Given the description of an element on the screen output the (x, y) to click on. 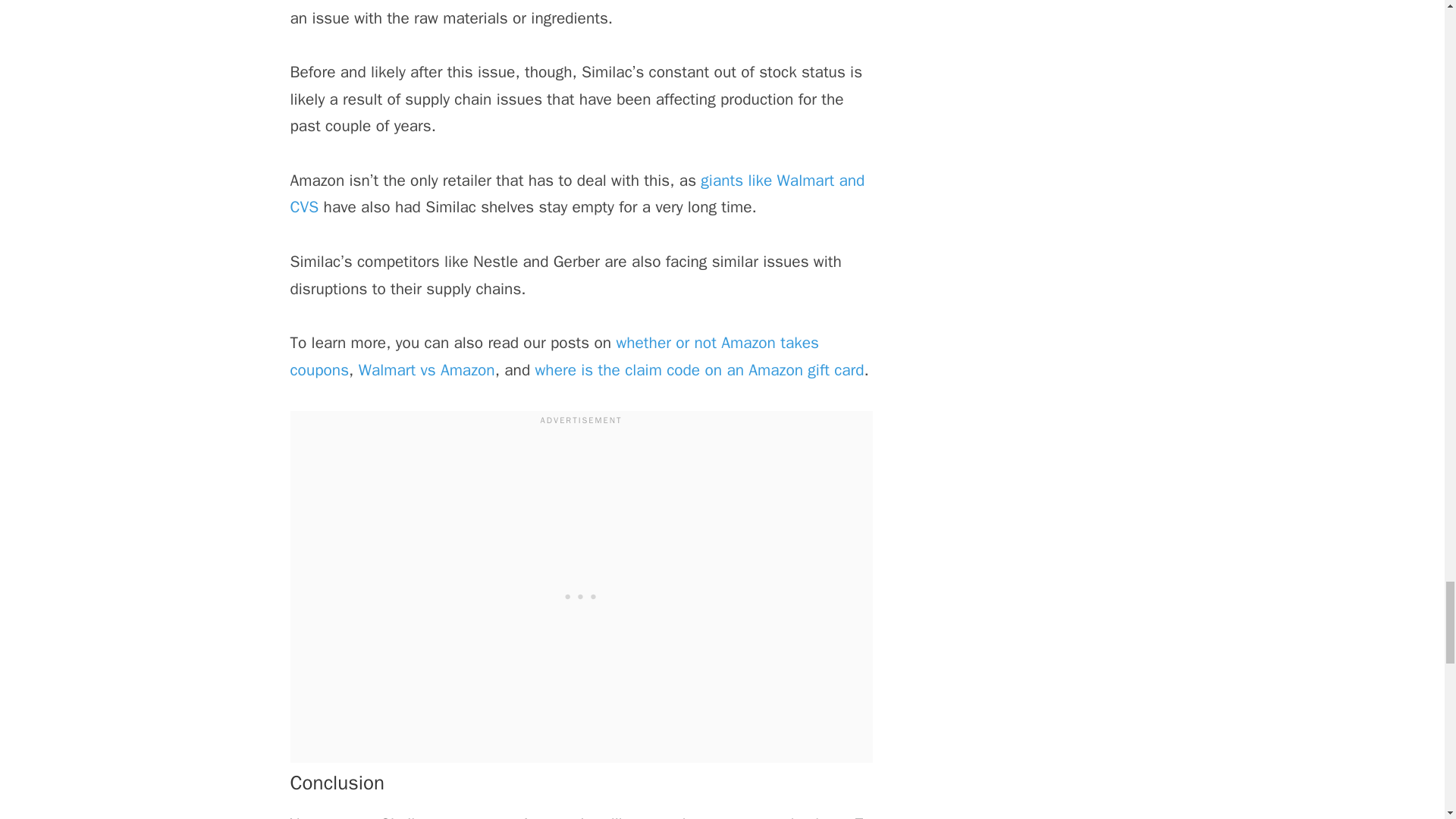
giants like Walmart and CVS (576, 193)
whether or not Amazon takes coupons (553, 356)
